Given the description of an element on the screen output the (x, y) to click on. 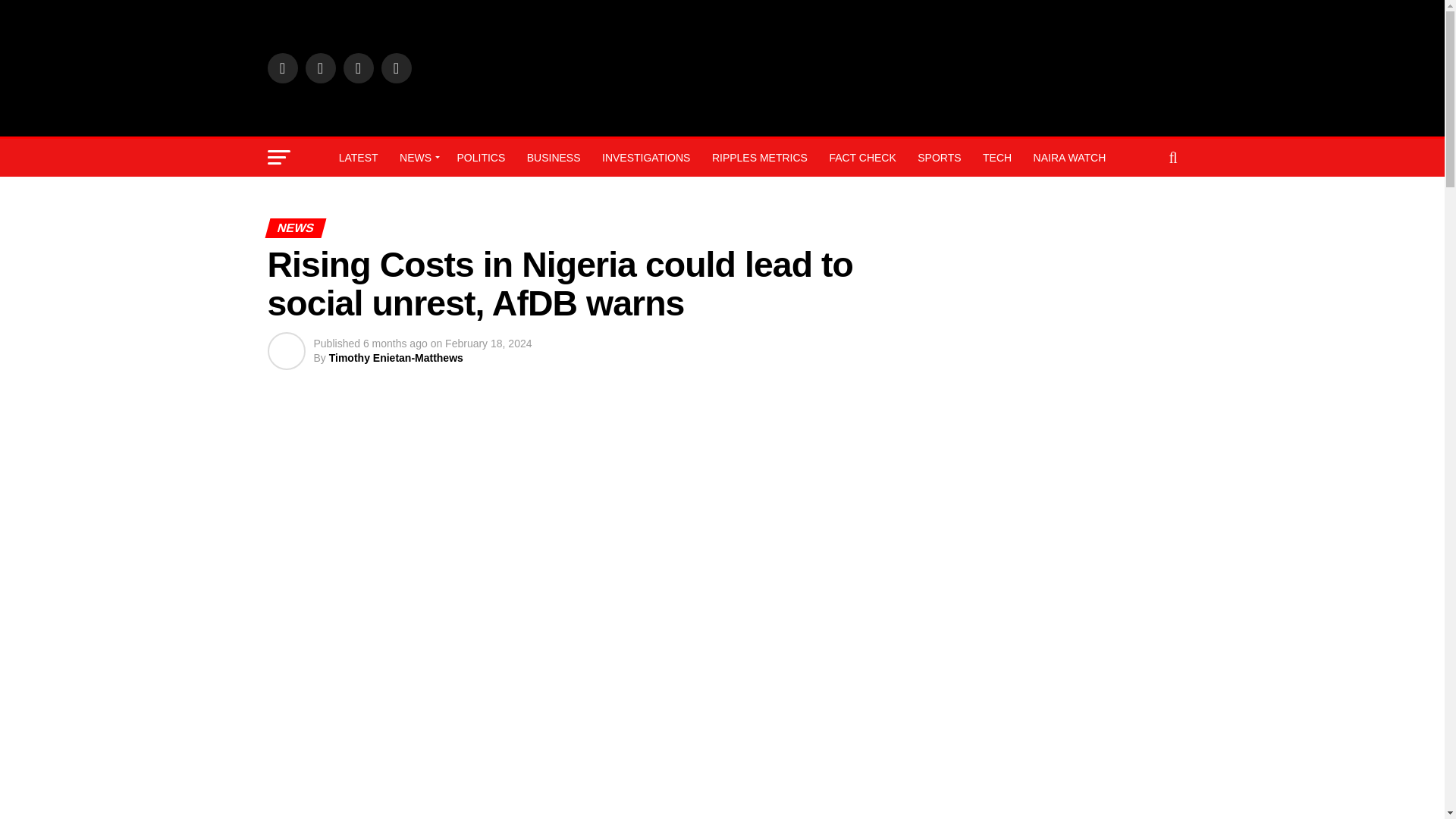
LATEST (358, 157)
POLITICS (479, 157)
NEWS (417, 157)
Posts by Timothy Enietan-Matthews (396, 357)
BUSINESS (553, 157)
